Given the description of an element on the screen output the (x, y) to click on. 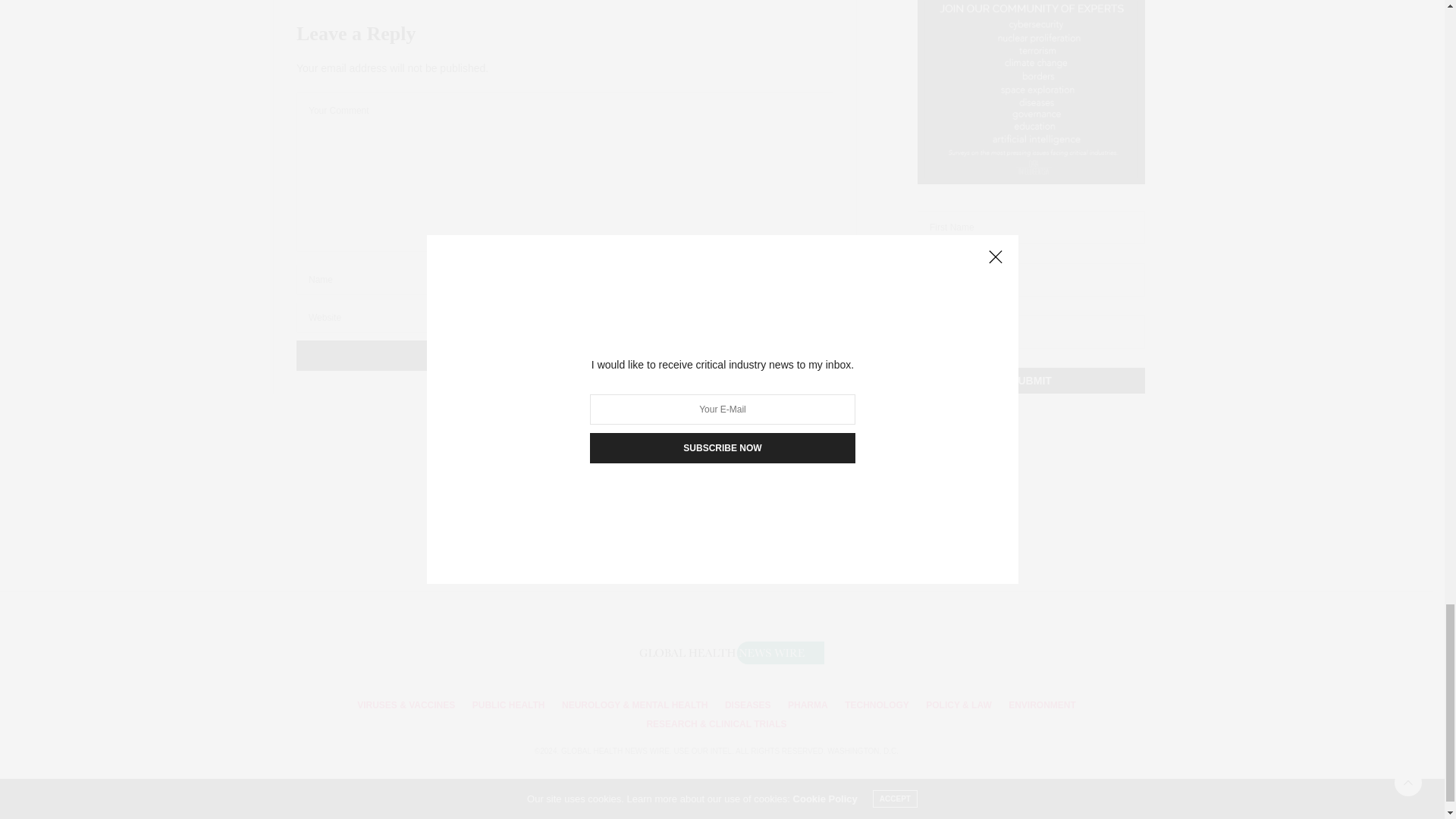
Submit Comment (564, 355)
